Given the description of an element on the screen output the (x, y) to click on. 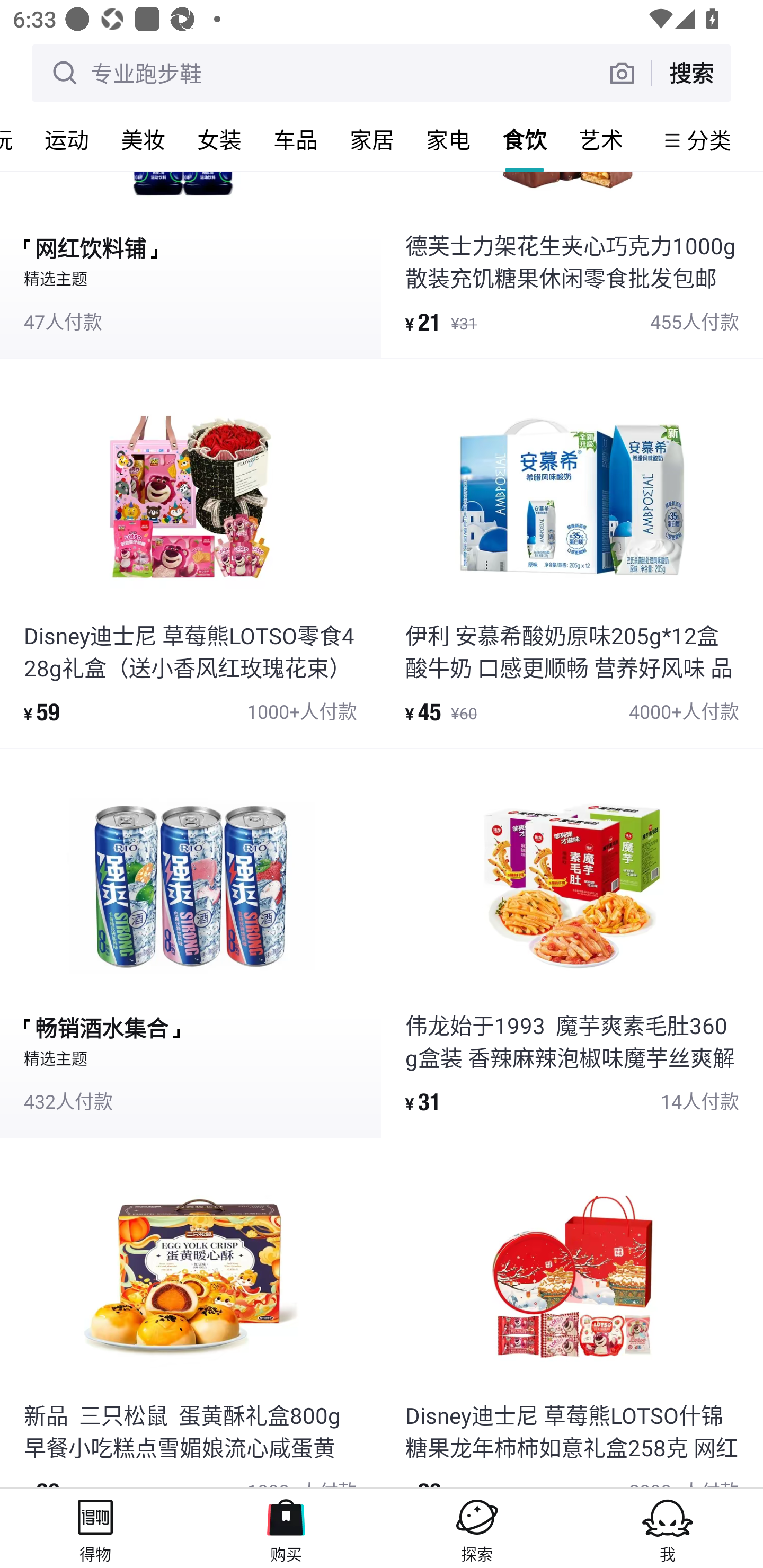
搜索 (690, 72)
运动 (66, 139)
美妆 (143, 139)
女装 (219, 139)
车品 (295, 139)
家居 (372, 139)
家电 (448, 139)
食饮 (524, 139)
艺术 (601, 139)
分类 (708, 139)
网红饮料铺 精选主题 47人付款 (190, 263)
畅销酒水集合 精选主题 432人付款 (190, 942)
得物 (95, 1528)
购买 (285, 1528)
探索 (476, 1528)
我 (667, 1528)
